Given the description of an element on the screen output the (x, y) to click on. 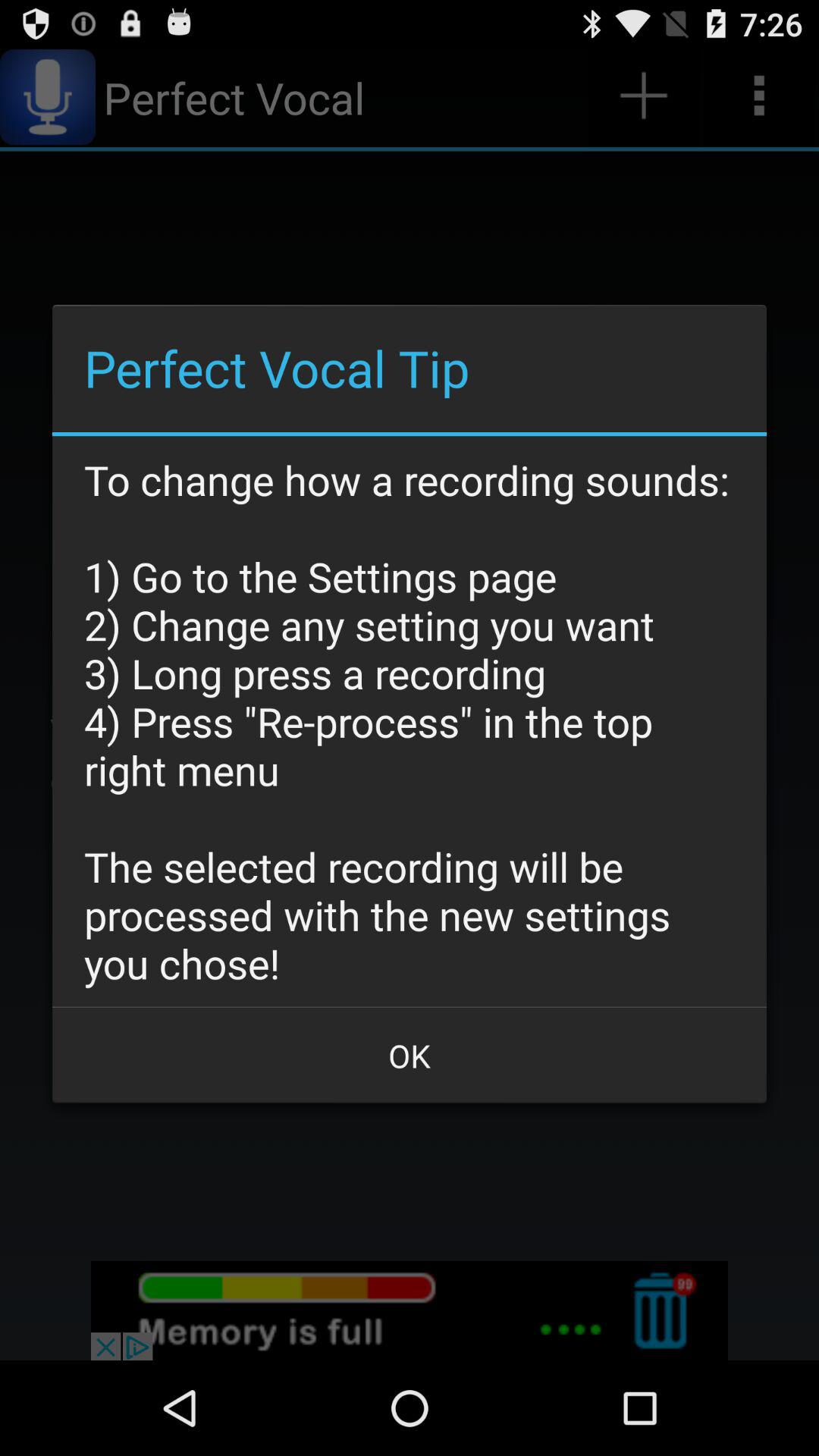
launch the ok item (409, 1055)
